Given the description of an element on the screen output the (x, y) to click on. 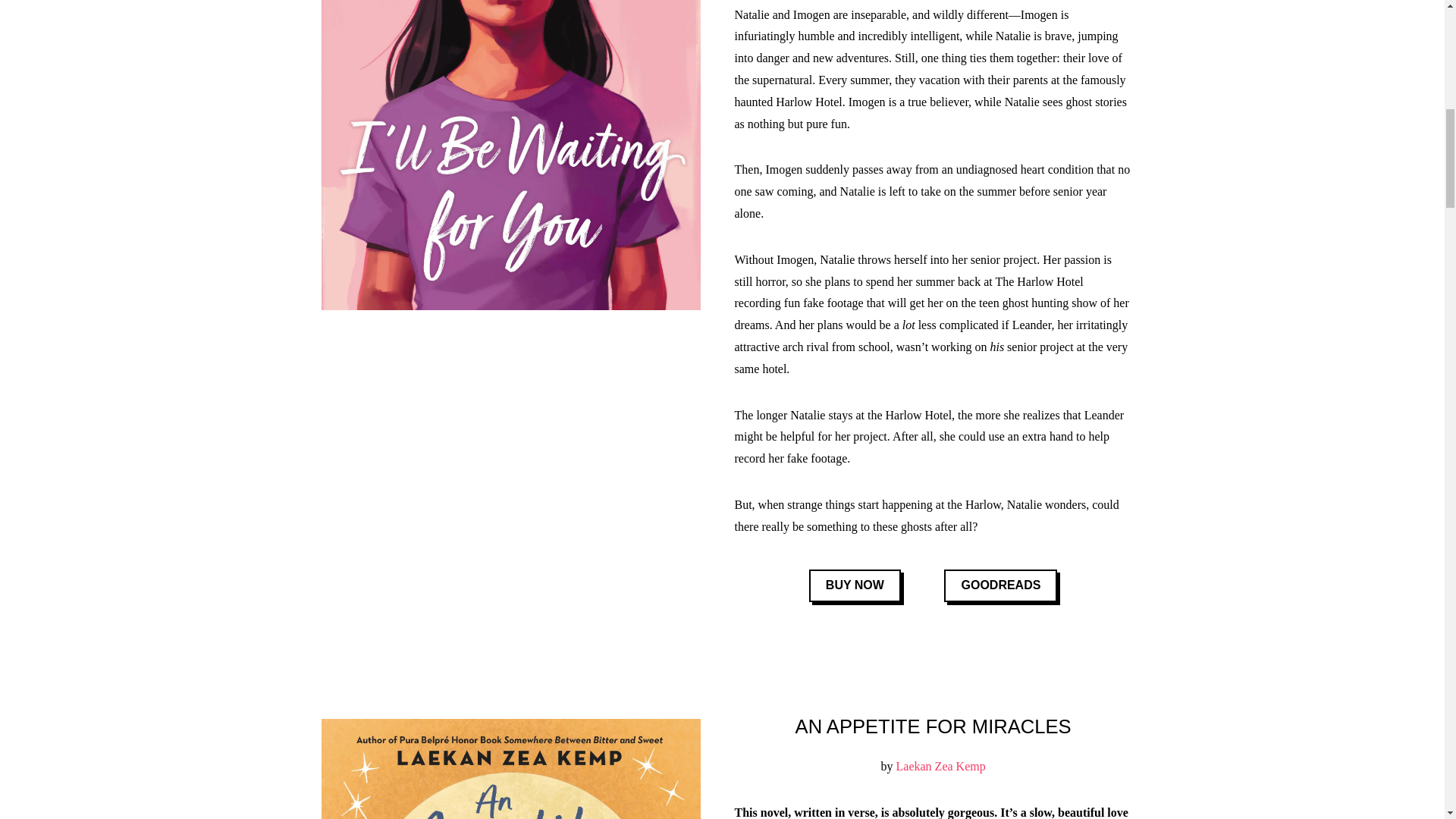
BUY NOW (855, 585)
GOODREADS (1000, 585)
Laekan Zea Kemp (940, 766)
